Given the description of an element on the screen output the (x, y) to click on. 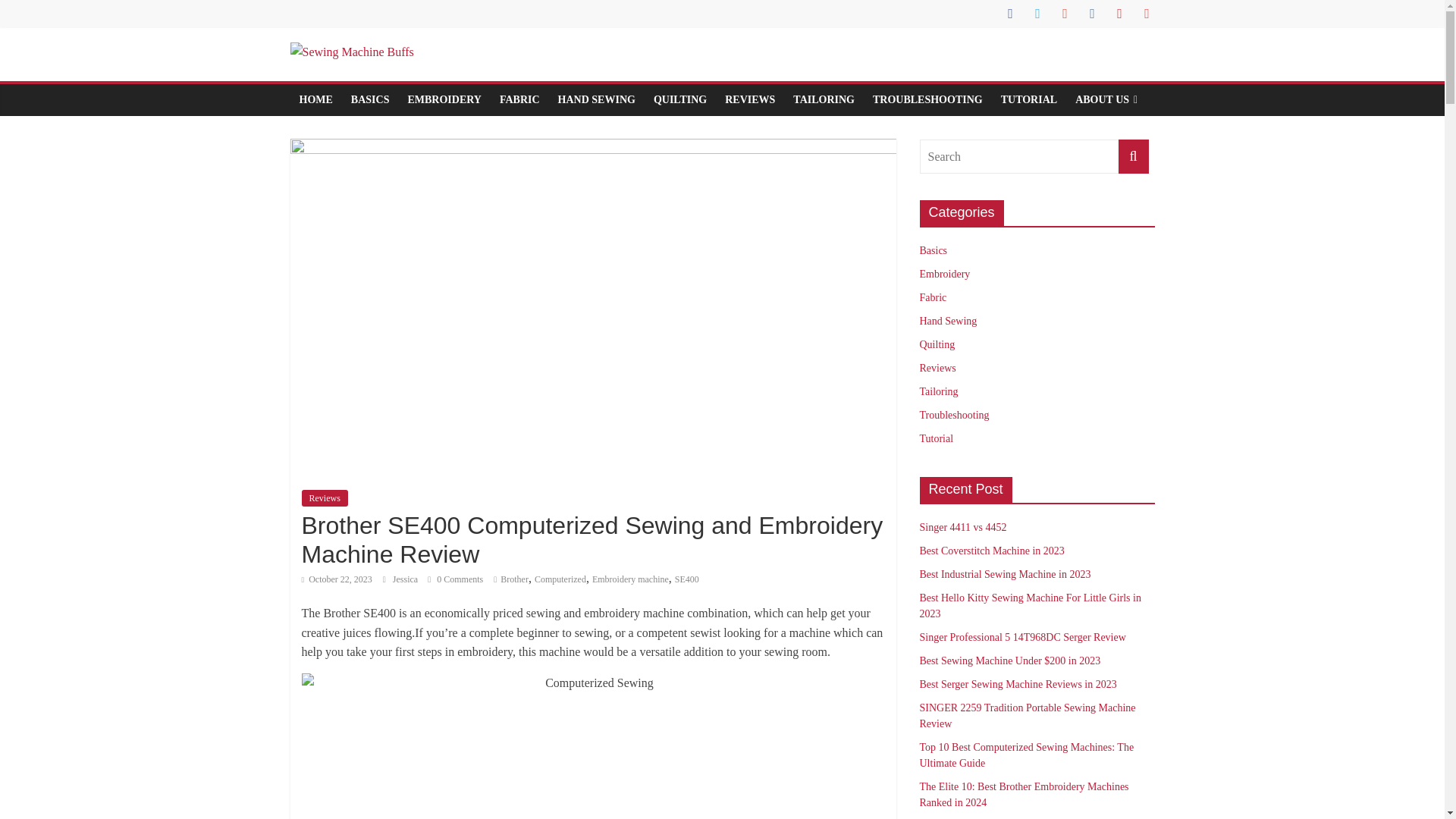
TUTORIAL (1028, 100)
October 22, 2023 (336, 579)
FABRIC (519, 100)
Reviews (324, 497)
BASICS (370, 100)
ABOUT US (1106, 100)
EMBROIDERY (443, 100)
1:54 pm (336, 579)
Computerized (560, 579)
Jessica (406, 579)
